Given the description of an element on the screen output the (x, y) to click on. 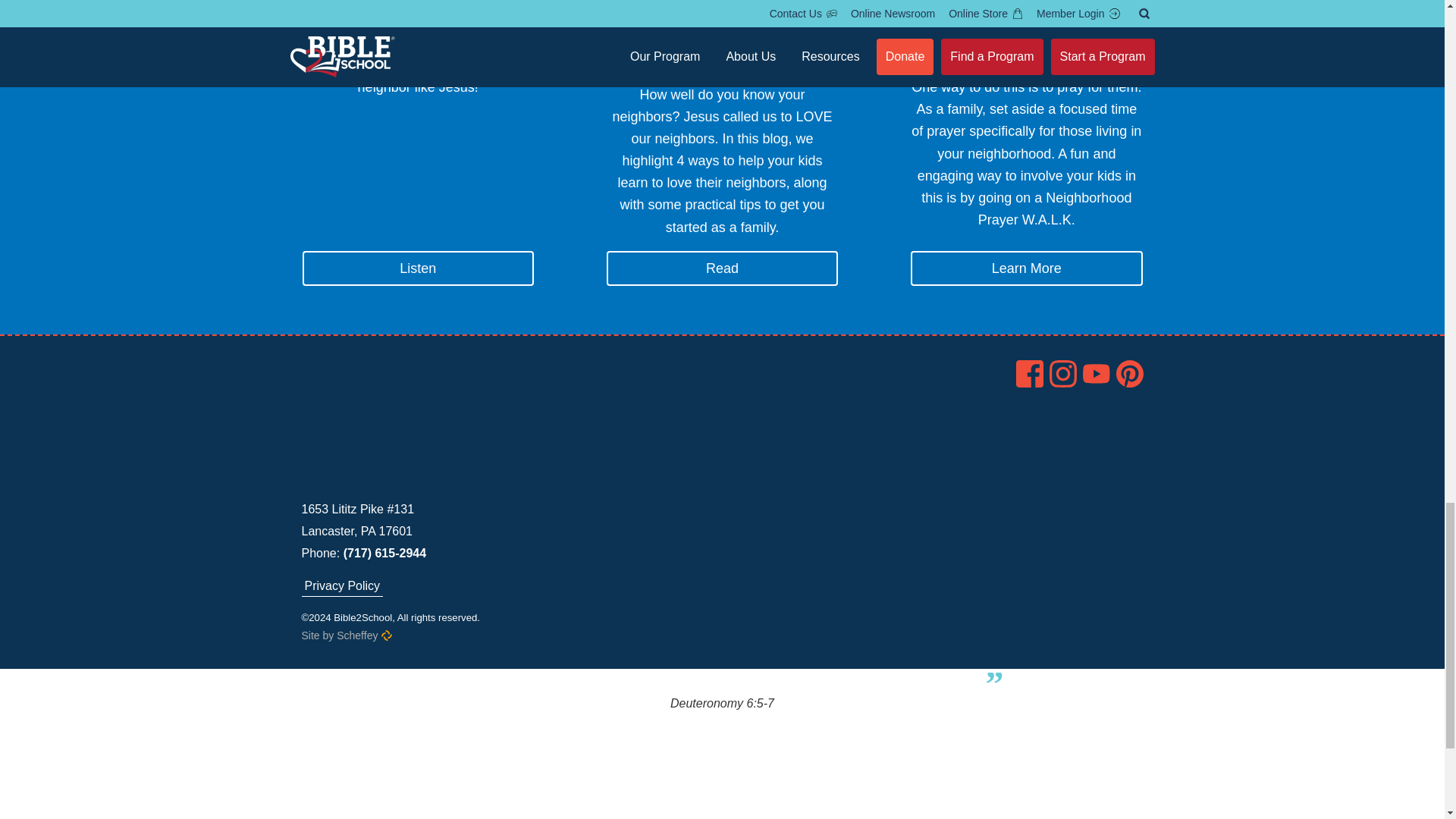
facebook (1029, 373)
instagramCreated with Sketch. (1063, 373)
Learn More (1026, 267)
Read (722, 267)
Listen (416, 267)
youtubeCreated with Sketch. (1096, 373)
